Given the description of an element on the screen output the (x, y) to click on. 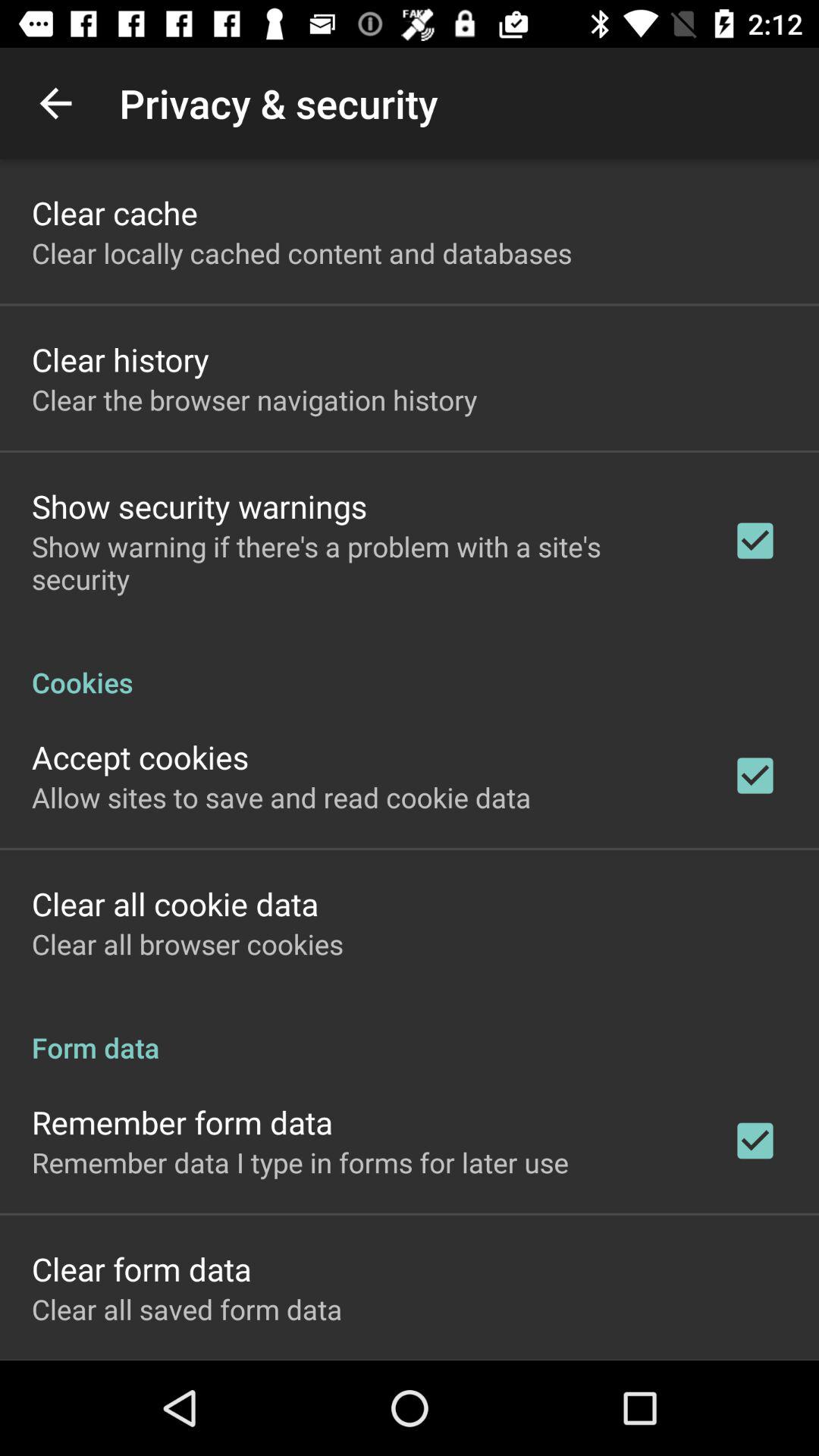
tap show warning if app (361, 562)
